Given the description of an element on the screen output the (x, y) to click on. 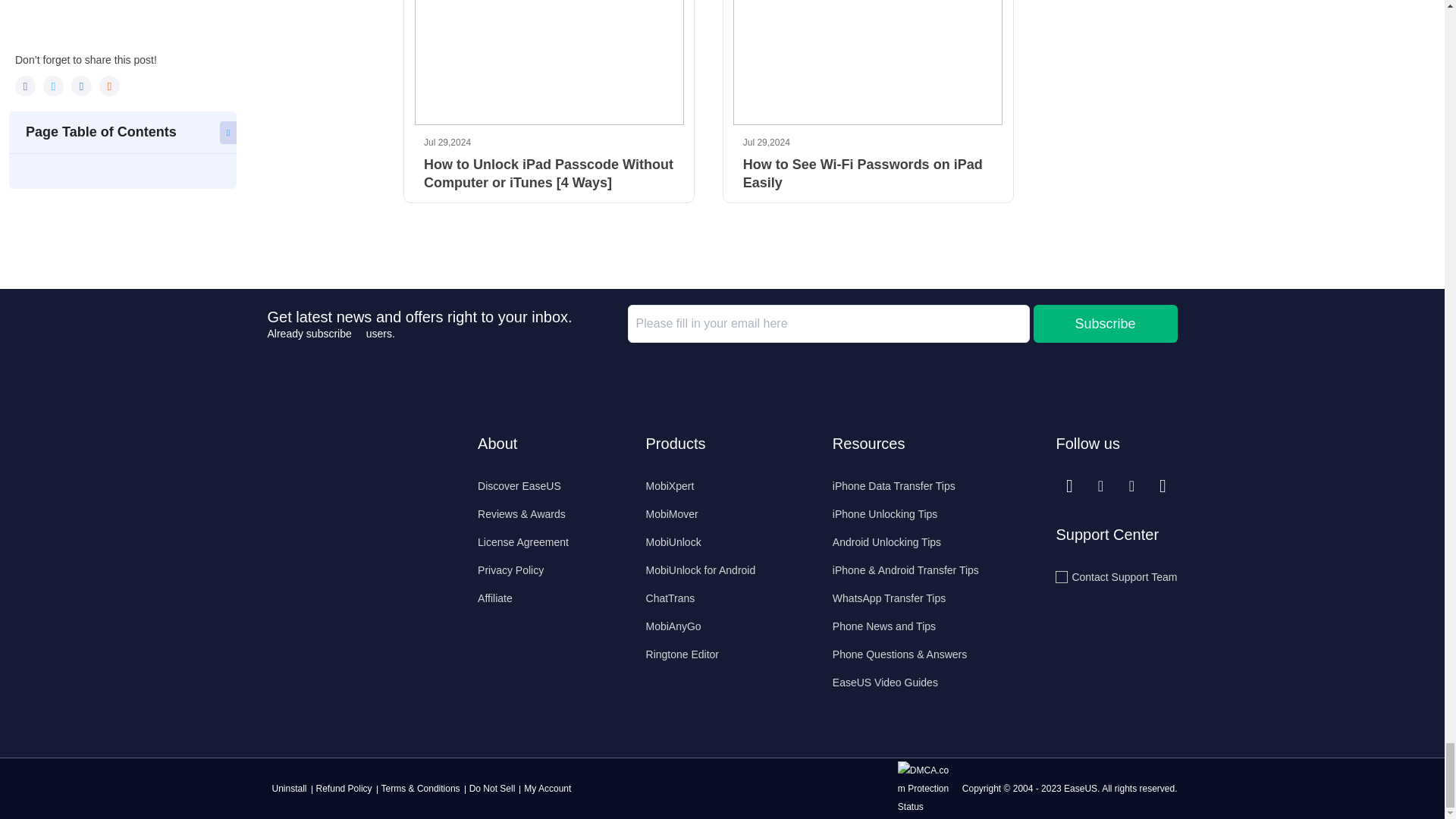
DMCA.com Protection Status (928, 787)
